Given the description of an element on the screen output the (x, y) to click on. 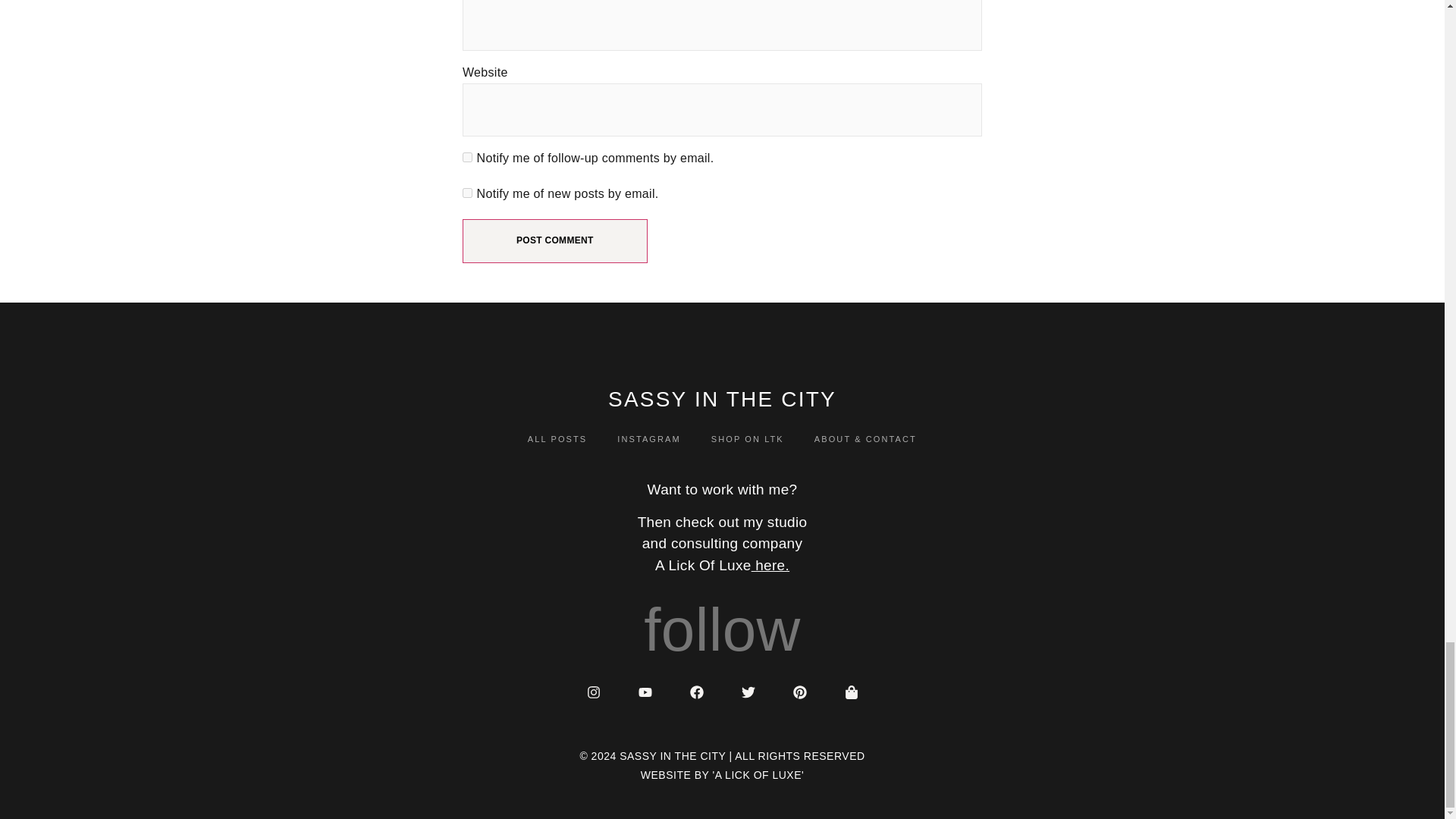
subscribe (467, 193)
Post Comment (555, 240)
subscribe (467, 157)
